Given the description of an element on the screen output the (x, y) to click on. 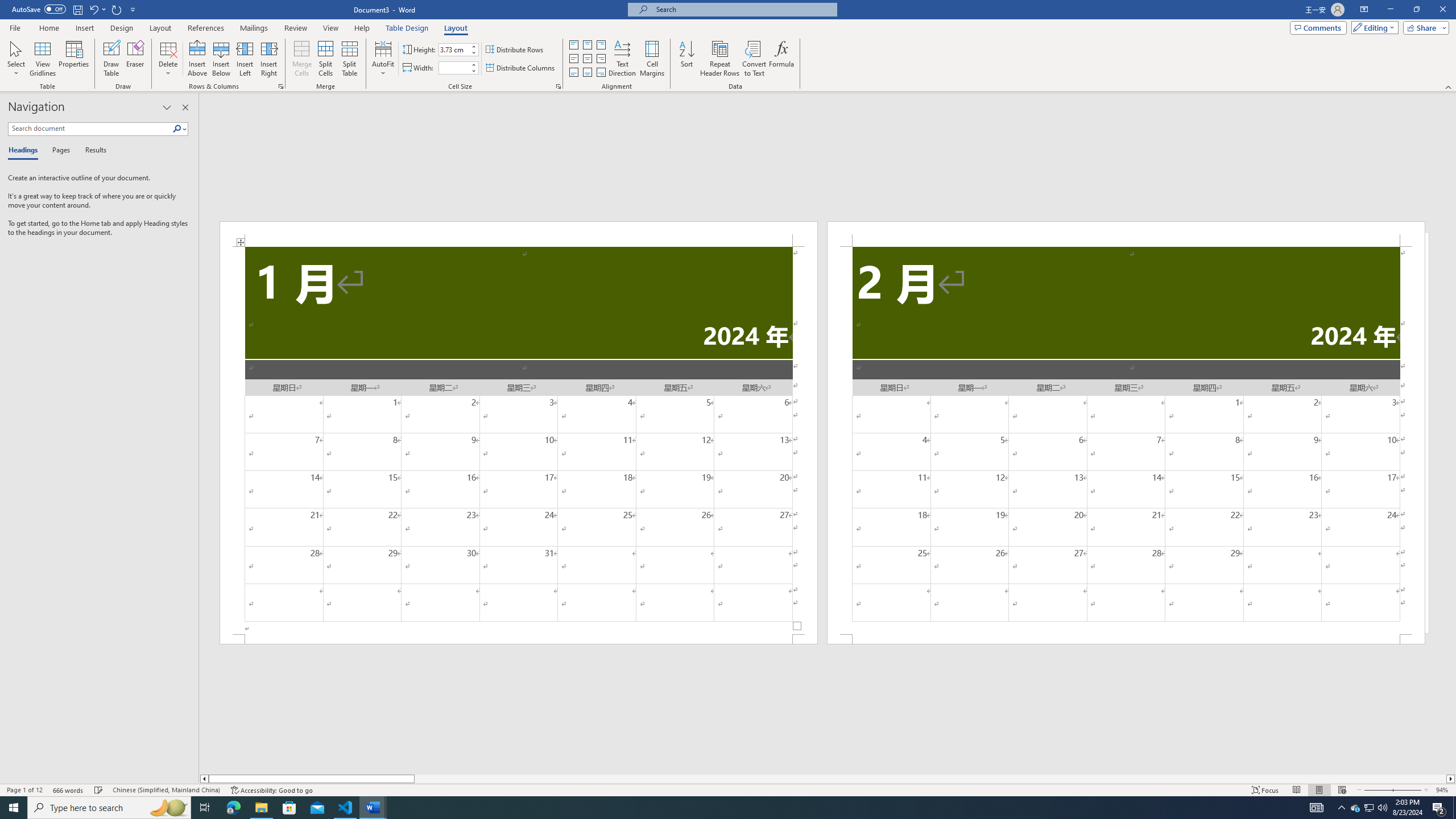
Insert Right (269, 58)
Undo Increase Indent (92, 9)
Draw Table (111, 58)
Column left (203, 778)
Insert Cells... (280, 85)
Formula... (780, 58)
Distribute Rows (515, 49)
Align Bottom Right (601, 72)
